Given the description of an element on the screen output the (x, y) to click on. 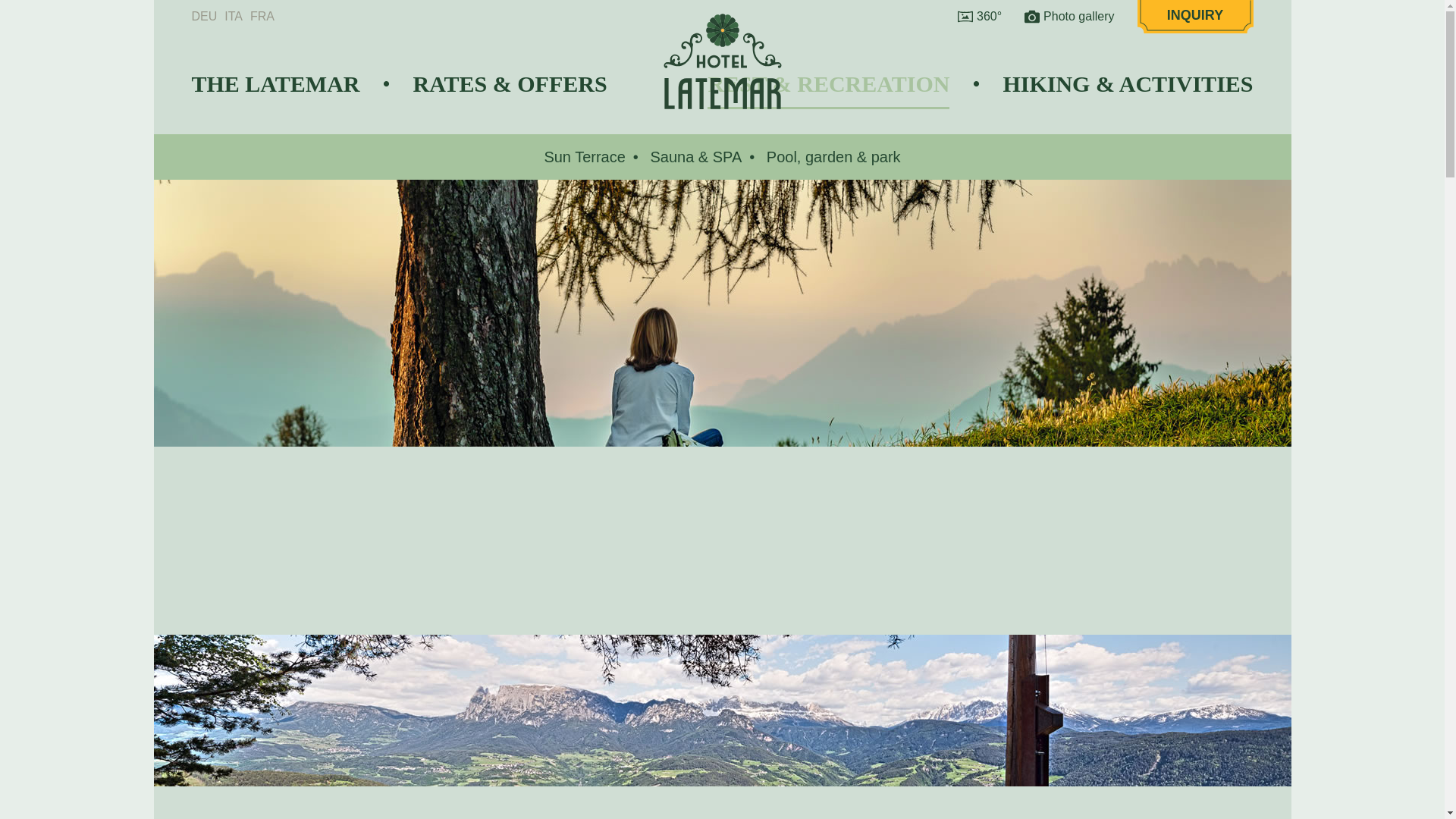
Photo gallery (1069, 16)
FRA (266, 16)
INQUIRY (1195, 16)
Deutsch (207, 16)
DEU (207, 16)
Sun Terrace (583, 156)
THE LATEMAR (274, 83)
